Given the description of an element on the screen output the (x, y) to click on. 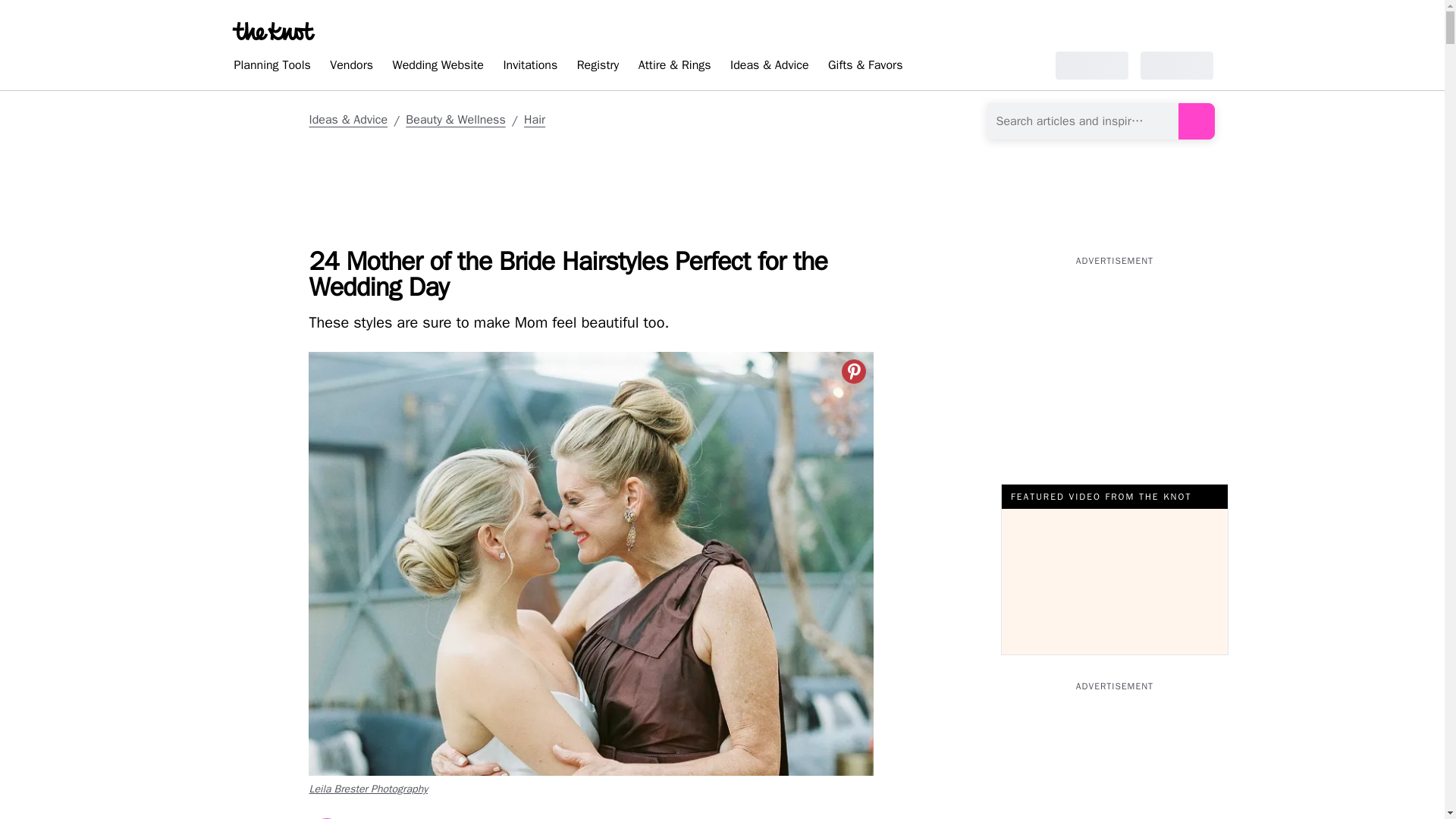
Wedding Website (438, 67)
Invitations (529, 67)
Planning Tools (271, 67)
Registry (598, 67)
Vendors (350, 67)
